Given the description of an element on the screen output the (x, y) to click on. 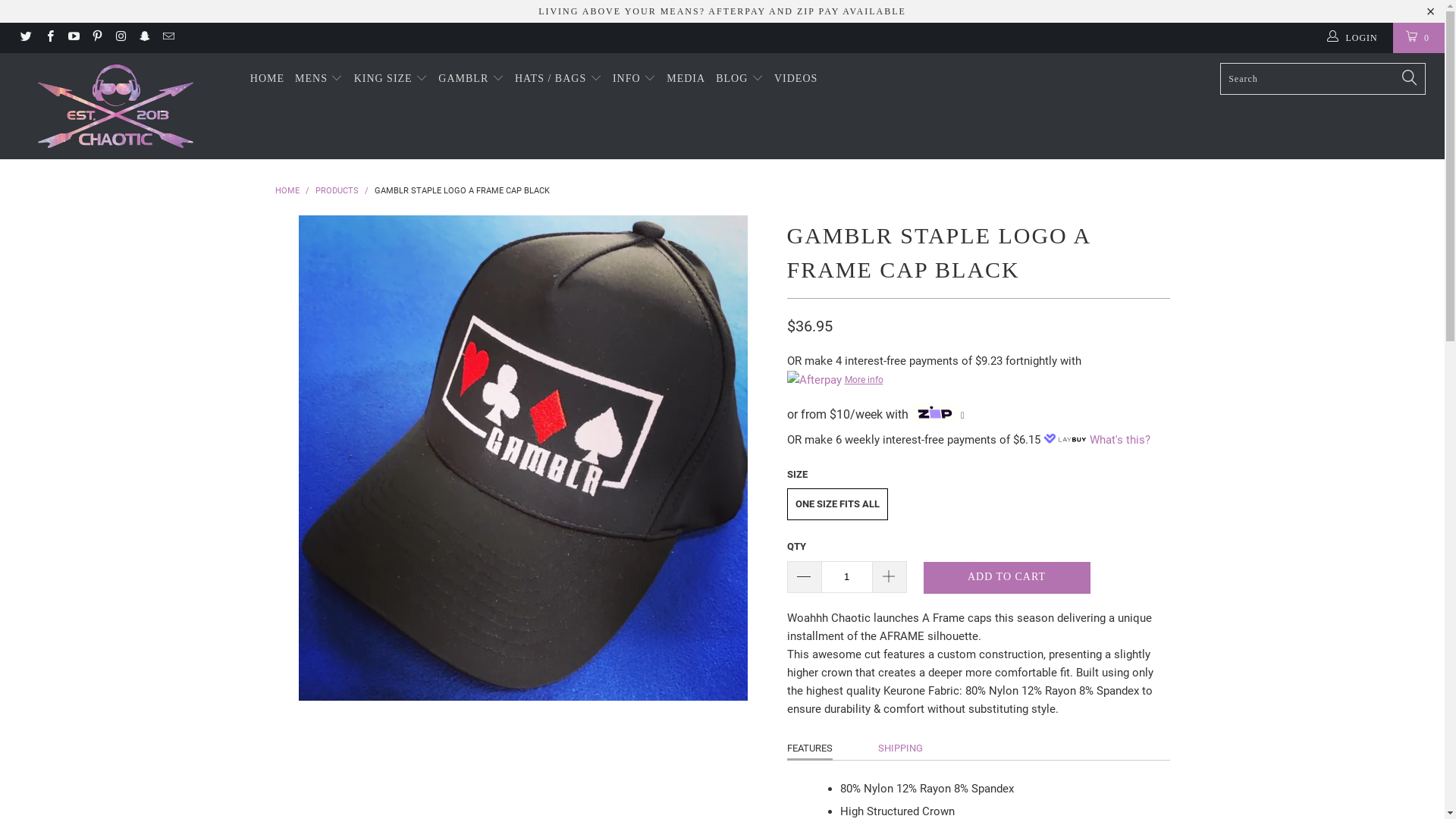
SHIPPING Element type: text (900, 748)
MENS Element type: text (318, 78)
0 Element type: text (1418, 37)
KING SIZE Element type: text (391, 78)
Chaotic Clothing Element type: hover (115, 106)
Chaotic Clothing on Snapchat Element type: hover (143, 37)
What's this? Element type: text (1119, 439)
HATS / BAGS Element type: text (558, 78)
LOGIN Element type: text (1353, 37)
PRODUCTS Element type: text (336, 190)
Chaotic Clothing on YouTube Element type: hover (72, 37)
Chaotic Clothing on Pinterest Element type: hover (96, 37)
BLOG Element type: text (739, 78)
HOME Element type: text (286, 190)
ADD TO CART Element type: text (1006, 577)
HOME Element type: text (267, 78)
Chaotic Clothing on Facebook Element type: hover (48, 37)
More info Element type: text (978, 379)
VIDEOS Element type: text (795, 78)
Chaotic Clothing on Twitter Element type: hover (24, 37)
Chaotic Clothing on Instagram Element type: hover (119, 37)
GAMBLR Element type: text (471, 78)
Email Chaotic Clothing Element type: hover (166, 37)
MEDIA Element type: text (685, 78)
INFO Element type: text (633, 78)
FEATURES Element type: text (809, 748)
